Given the description of an element on the screen output the (x, y) to click on. 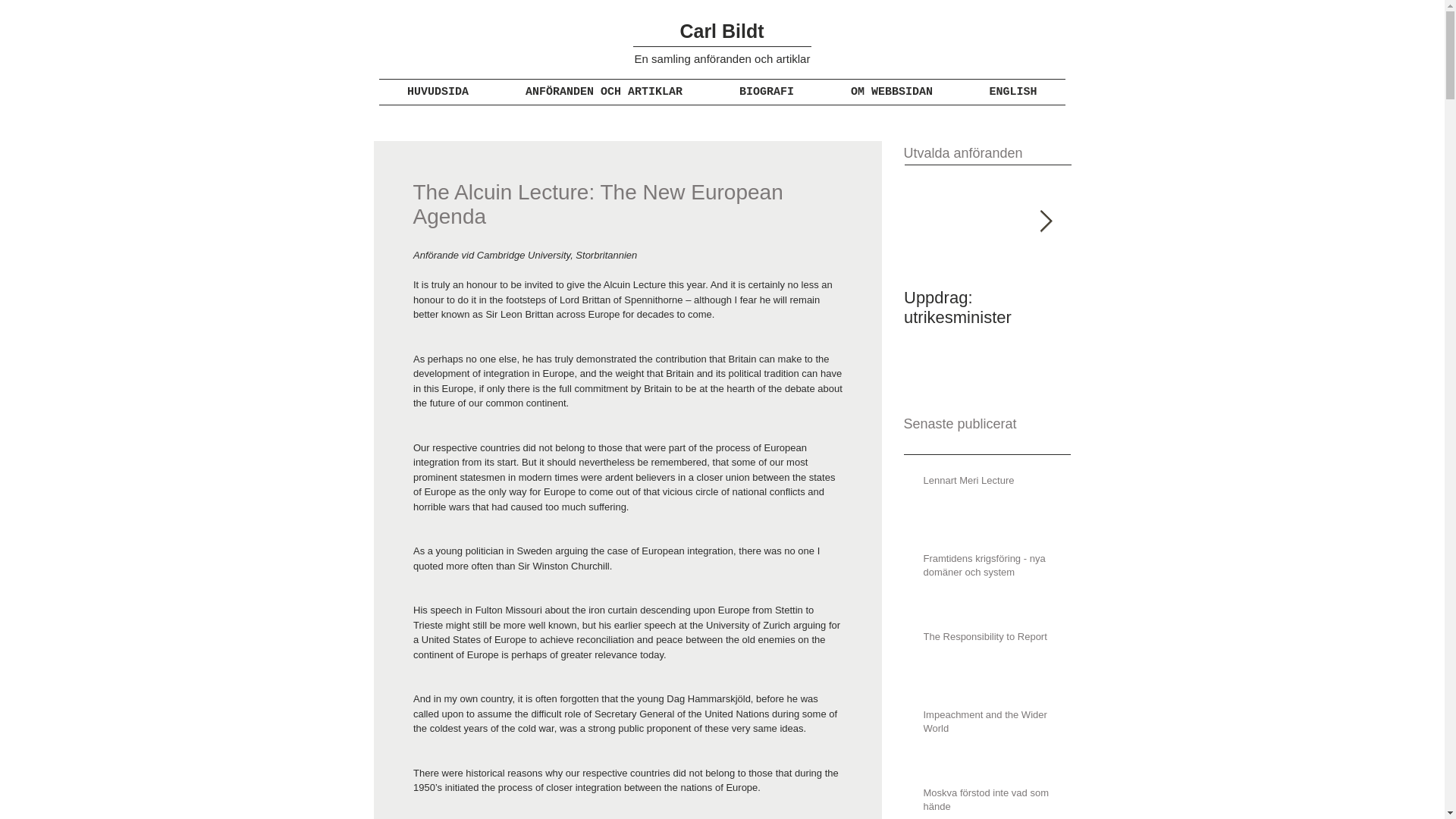
ENGLISH (1012, 91)
BIOGRAFI (766, 91)
och artiklar (780, 58)
OM WEBBSIDAN (891, 91)
Lennart Meri Lecture (992, 483)
Uppdrag: utrikesminister (987, 307)
HUVUDSIDA (437, 91)
Carl Bildt (720, 30)
The Responsibility to Report (992, 639)
Impeachment and the Wider World (992, 725)
